Given the description of an element on the screen output the (x, y) to click on. 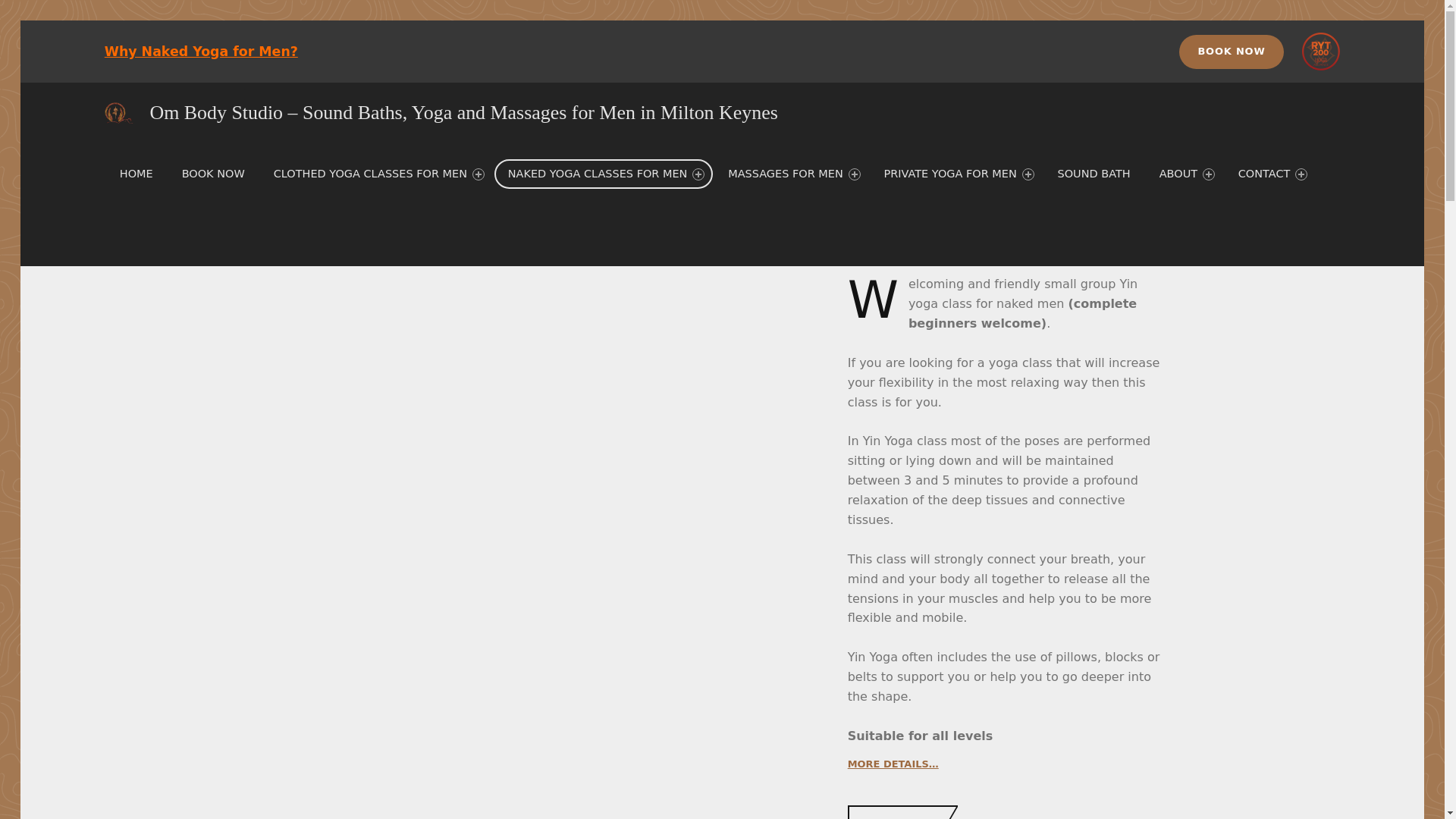
PRIVATE YOGA FOR MEN (955, 173)
MASSAGES FOR MEN (790, 173)
NAKED YOGA CLASSES FOR MEN (604, 173)
CLOTHED YOGA CLASSES FOR MEN (376, 173)
ABOUT (1184, 173)
Get the best WordPress themes! (1327, 234)
SOUND BATH (1093, 173)
BOOK NOW (213, 173)
HOME (136, 173)
